Given the description of an element on the screen output the (x, y) to click on. 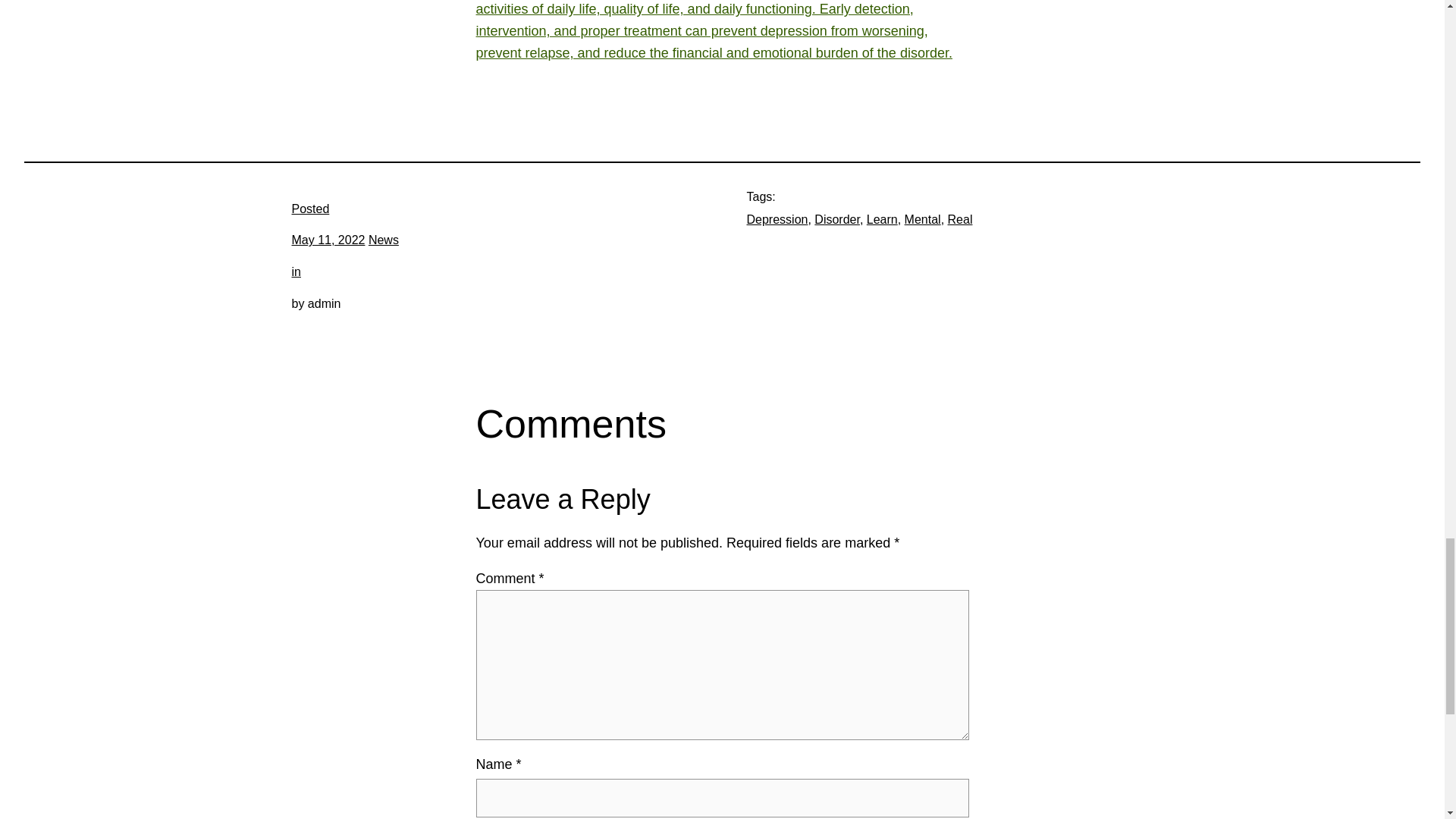
Mental (922, 219)
News (383, 239)
Depression (776, 219)
Learn (882, 219)
Disorder (836, 219)
Real (959, 219)
